Given the description of an element on the screen output the (x, y) to click on. 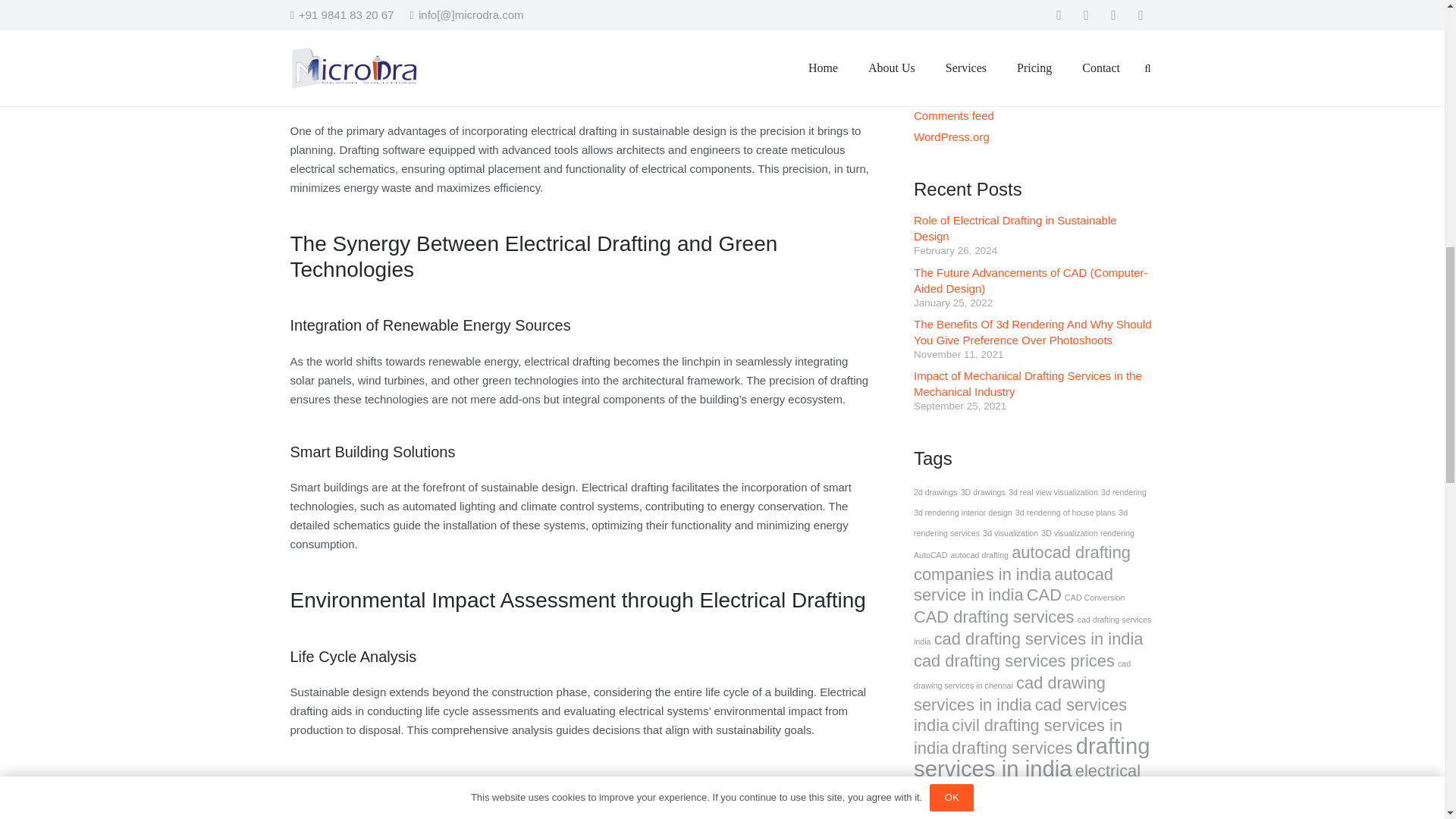
Back to top (1413, 26)
